Given the description of an element on the screen output the (x, y) to click on. 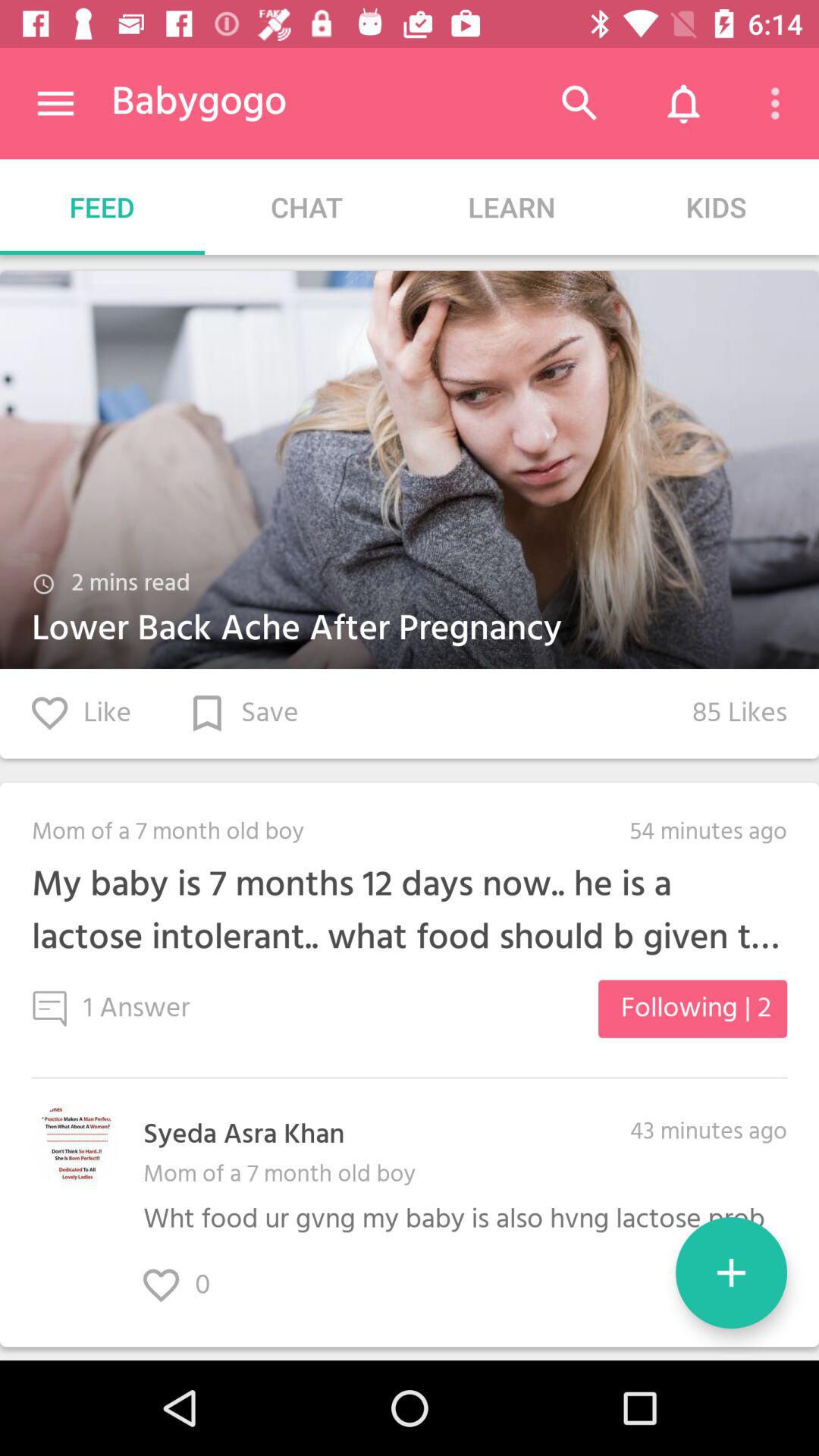
create new question (731, 1272)
